Given the description of an element on the screen output the (x, y) to click on. 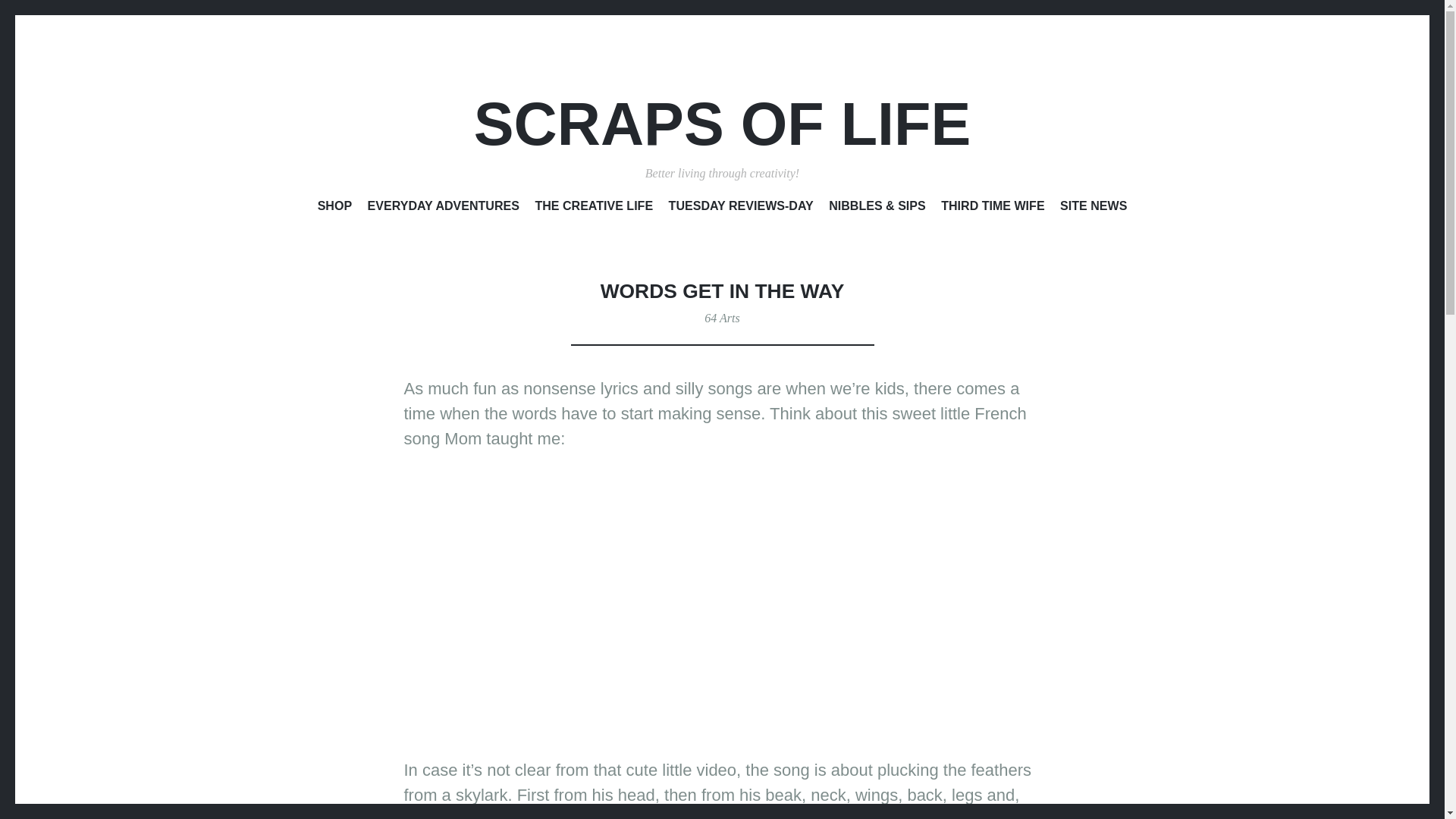
SITE NEWS (1092, 208)
SCRAPS OF LIFE (722, 123)
TUESDAY REVIEWS-DAY (740, 208)
EVERYDAY ADVENTURES (443, 208)
64 Arts (721, 318)
THE CREATIVE LIFE (593, 208)
SHOP (334, 208)
THIRD TIME WIFE (991, 208)
